Given the description of an element on the screen output the (x, y) to click on. 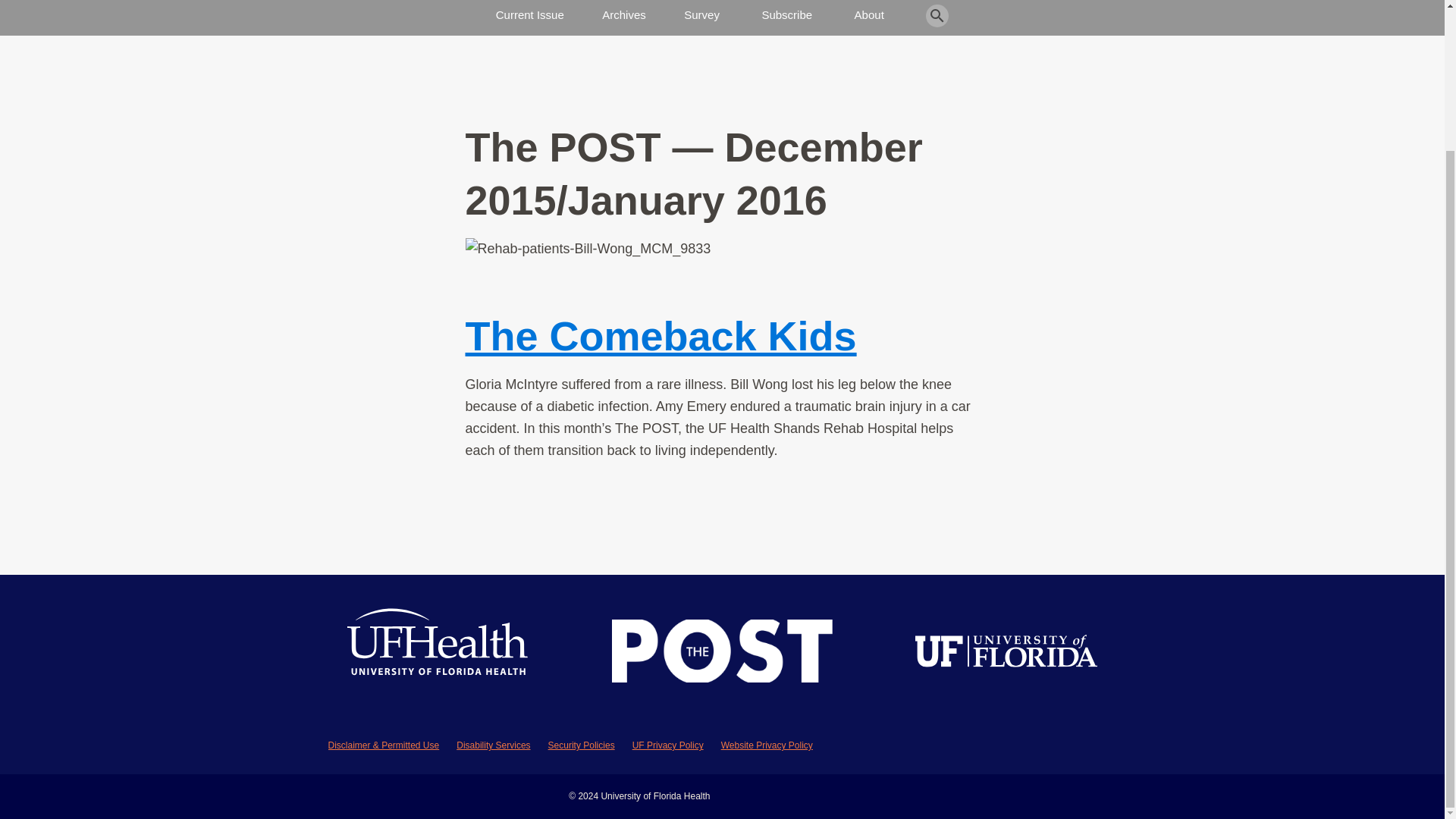
Current Issue (530, 12)
Subscribe (786, 12)
UF Health Logo (437, 653)
Survey (701, 12)
Disability Services (493, 745)
About (868, 12)
Website Privacy Policy (766, 745)
UF Health (437, 653)
Security Policies (581, 745)
Publication Logo (721, 653)
